Given the description of an element on the screen output the (x, y) to click on. 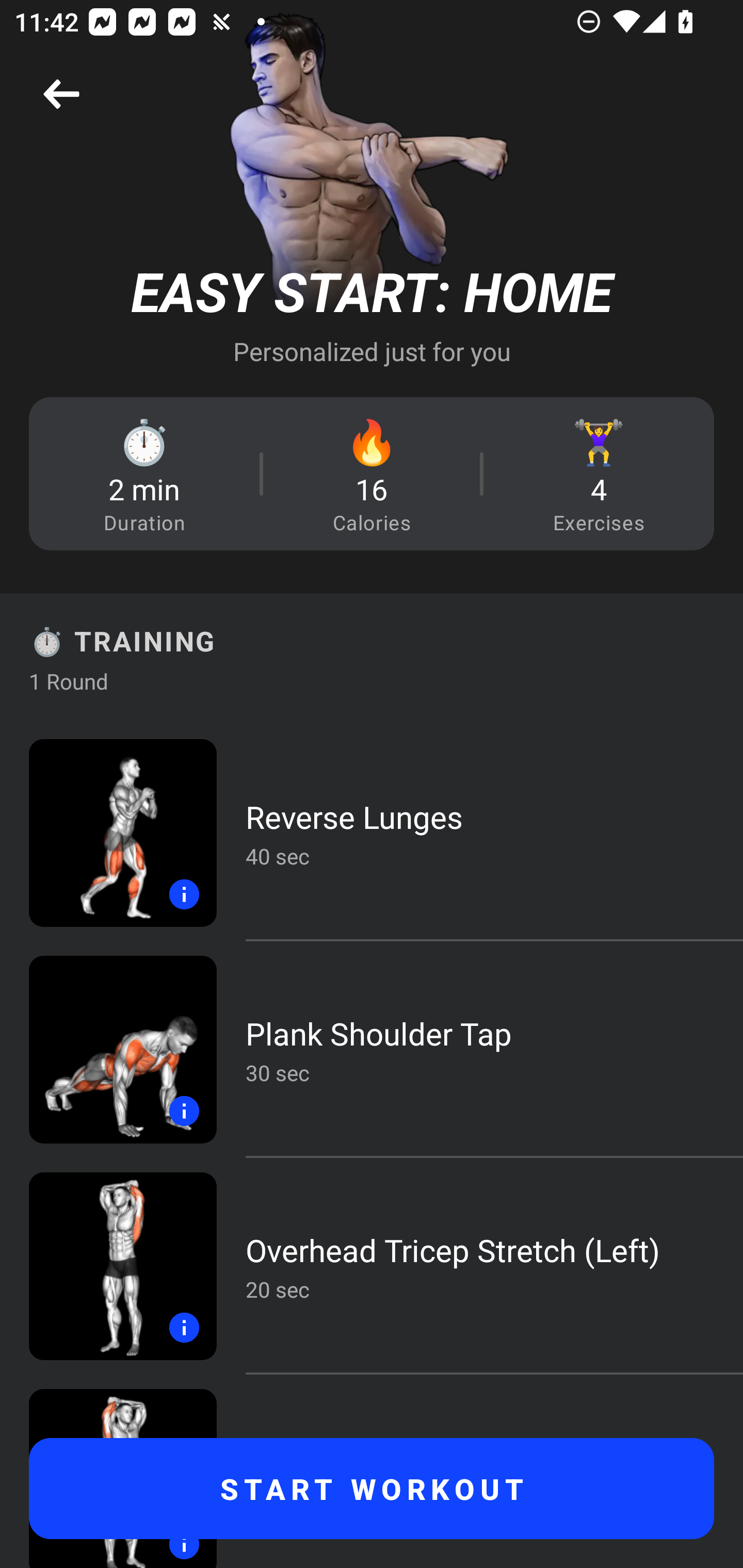
Reverse Lunges 40 sec (371, 832)
Plank Shoulder Tap 30 sec (371, 1048)
Overhead Tricep Stretch (Left) 20 sec (371, 1266)
START WORKOUT (371, 1488)
